Given the description of an element on the screen output the (x, y) to click on. 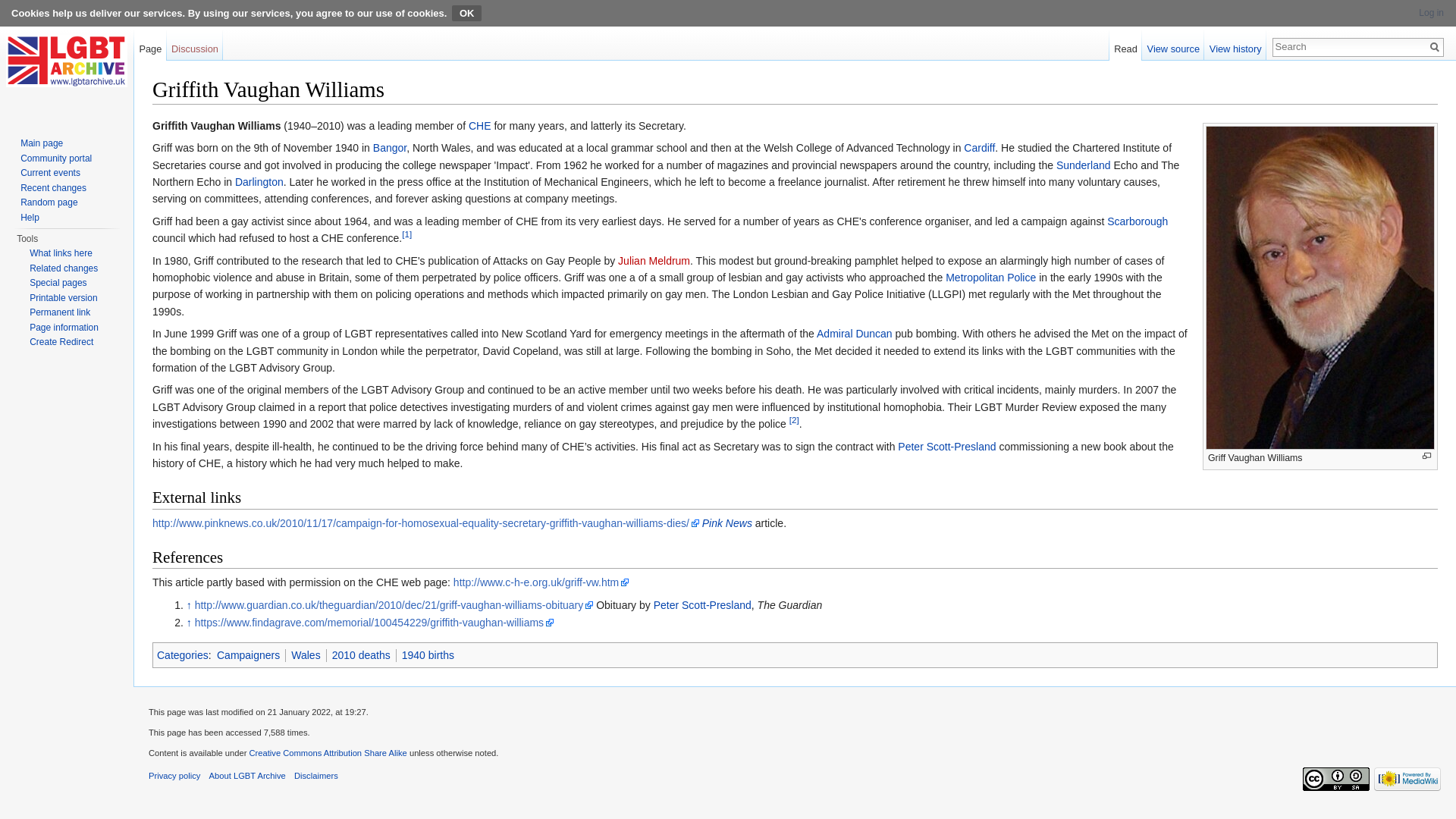
Peter Scott-Presland (702, 604)
Campaigners (247, 654)
Log in (1431, 12)
Darlington (258, 182)
Go (1434, 46)
Wales (305, 654)
CHE (480, 125)
Julian Meldrum (653, 260)
Pink News (726, 522)
Discussion (195, 45)
Darlington (258, 182)
Admiral Duncan (854, 333)
Peter Scott-Presland (946, 446)
Cardiff (978, 147)
Go (1434, 46)
